Given the description of an element on the screen output the (x, y) to click on. 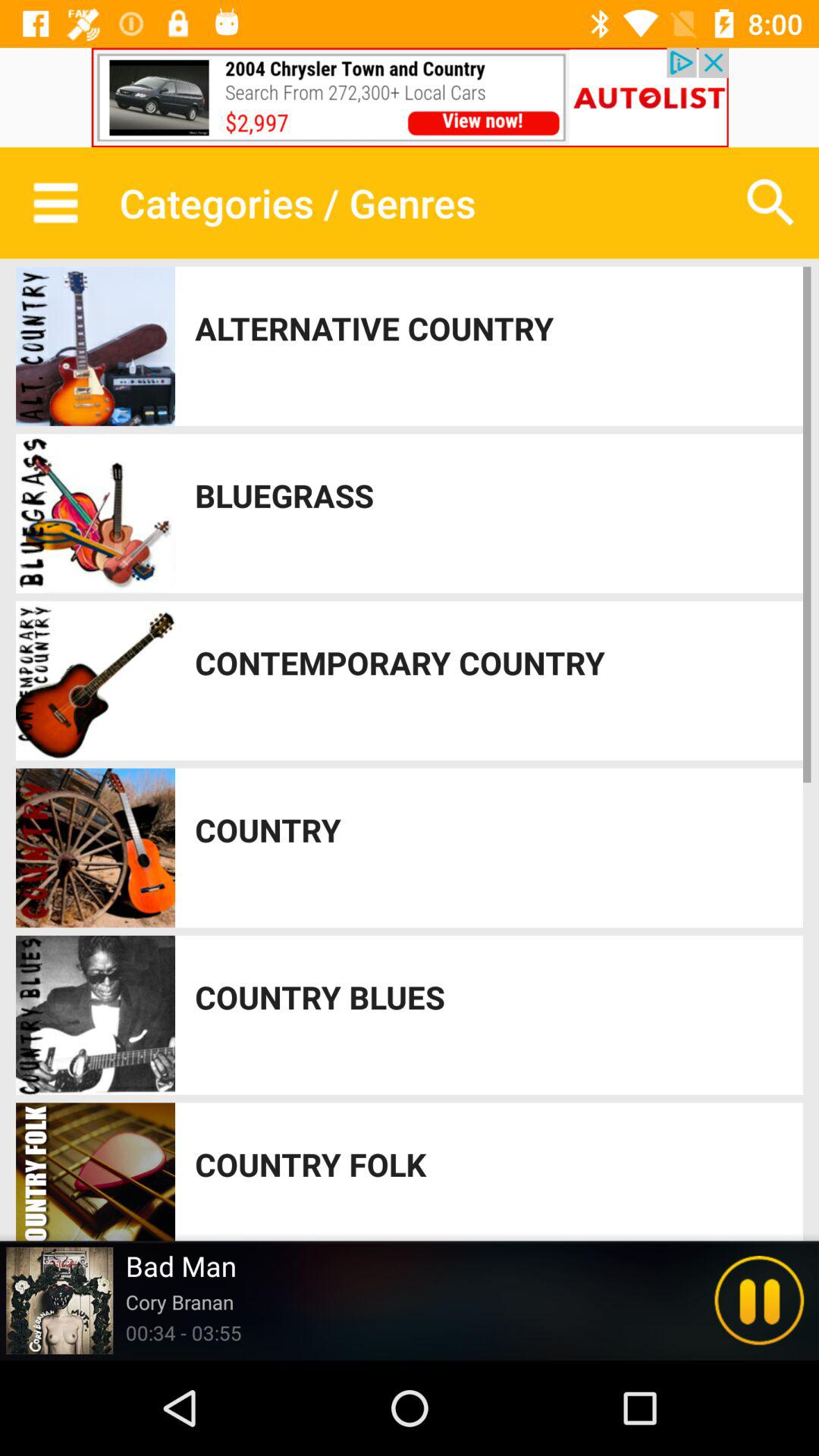
select advertisement (409, 97)
